Given the description of an element on the screen output the (x, y) to click on. 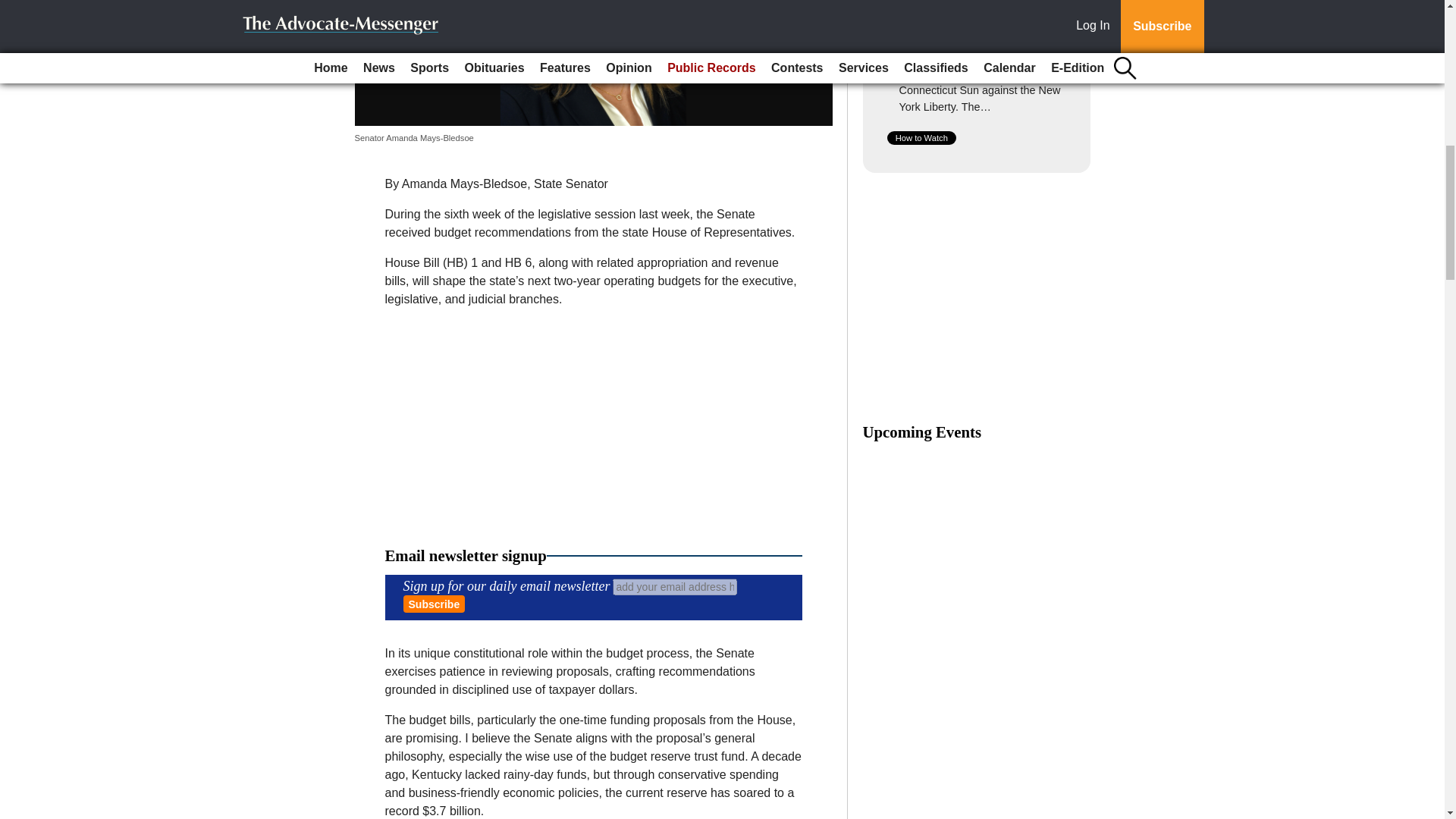
Subscribe (434, 603)
Subscribe (434, 603)
